Given the description of an element on the screen output the (x, y) to click on. 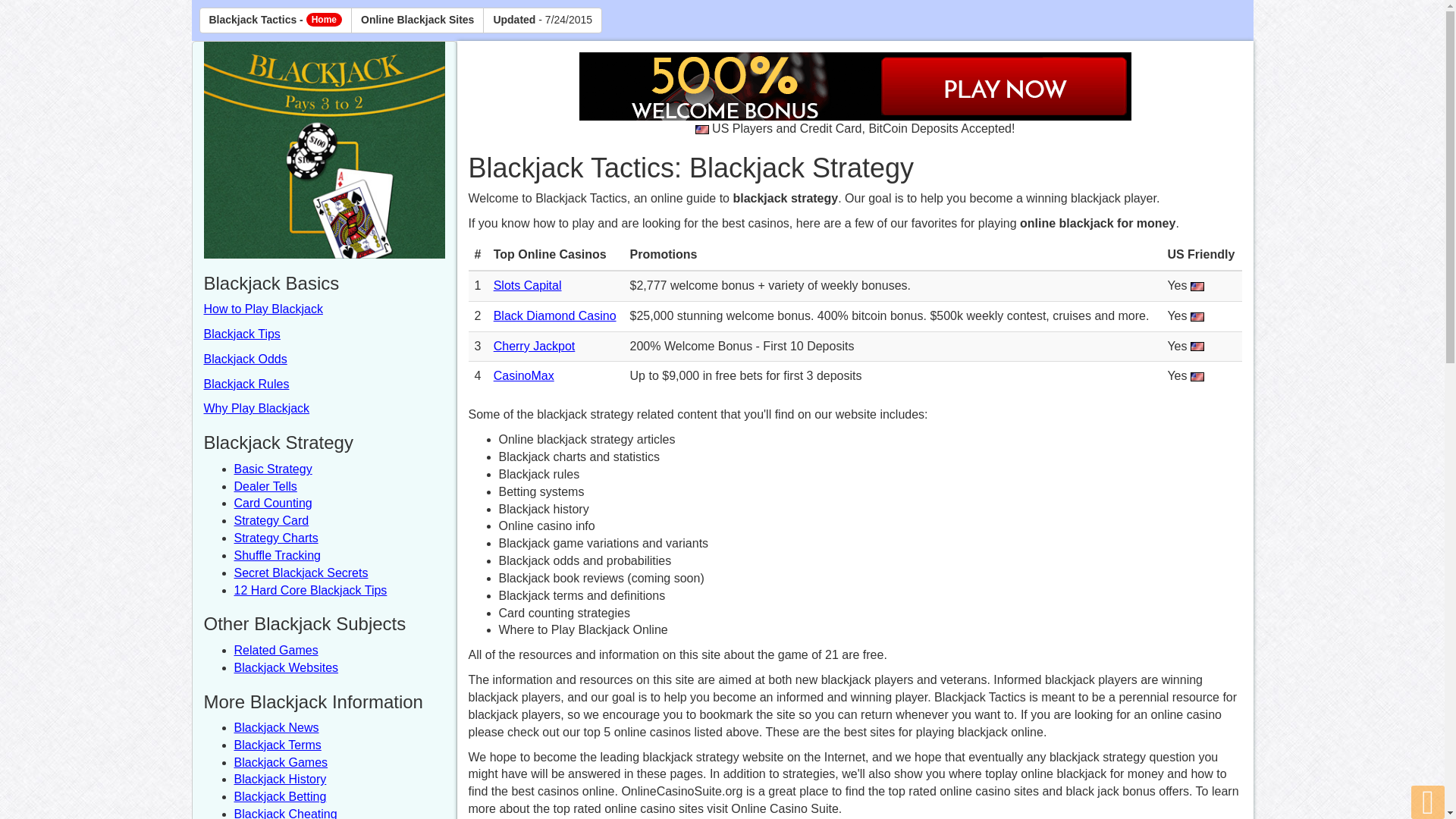
Slots Capital (527, 285)
Blackjack Rules (245, 383)
How to Play Blackjack (262, 308)
Related Games (274, 649)
Shuffle Tracking (276, 554)
Blackjack Odds (244, 358)
Blackjack Betting (279, 796)
Cherry Jackpot (534, 345)
Dealer Tells (264, 486)
Secret Blackjack Secrets (300, 572)
